Given the description of an element on the screen output the (x, y) to click on. 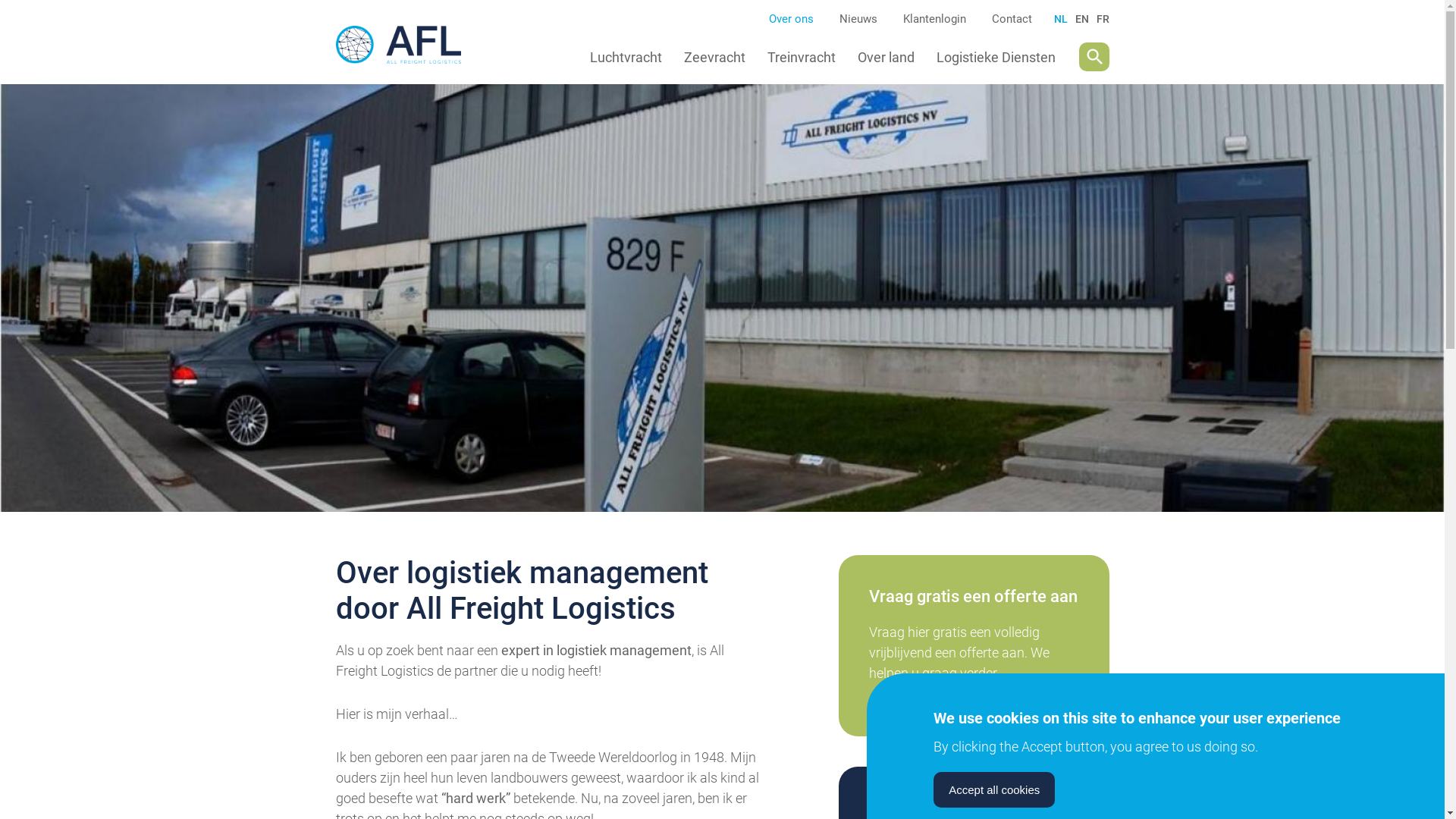
Luchtvracht Element type: text (625, 56)
FR Element type: text (1102, 18)
Logistieke Diensten Element type: text (995, 56)
Home Element type: hover (407, 56)
Accept all cookies Element type: text (993, 789)
Zeevracht Element type: text (714, 56)
Withdraw consent Element type: text (1114, 779)
NL Element type: text (1060, 18)
offerte Element type: text (973, 645)
Overslaan en naar de inhoud gaan Element type: text (0, 0)
Contact Element type: text (1011, 18)
Over ons Element type: text (790, 18)
Over land Element type: text (885, 56)
Treinvracht Element type: text (801, 56)
Klantenlogin Element type: text (933, 18)
EN Element type: text (1081, 18)
Nieuws Element type: text (857, 18)
